Given the description of an element on the screen output the (x, y) to click on. 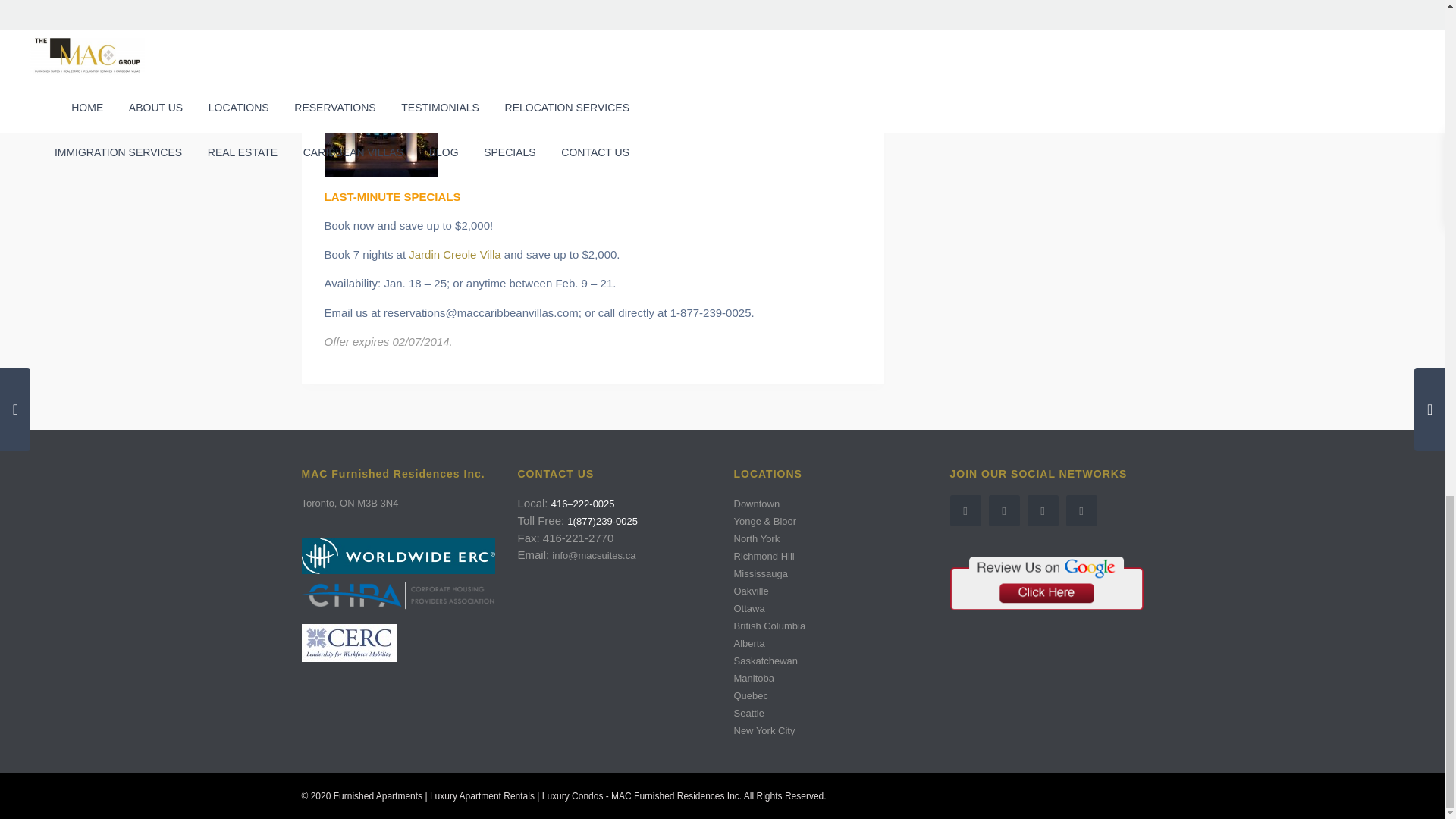
Jardin Creole Villa (454, 254)
Show Villa (350, 42)
CERC (348, 642)
